Given the description of an element on the screen output the (x, y) to click on. 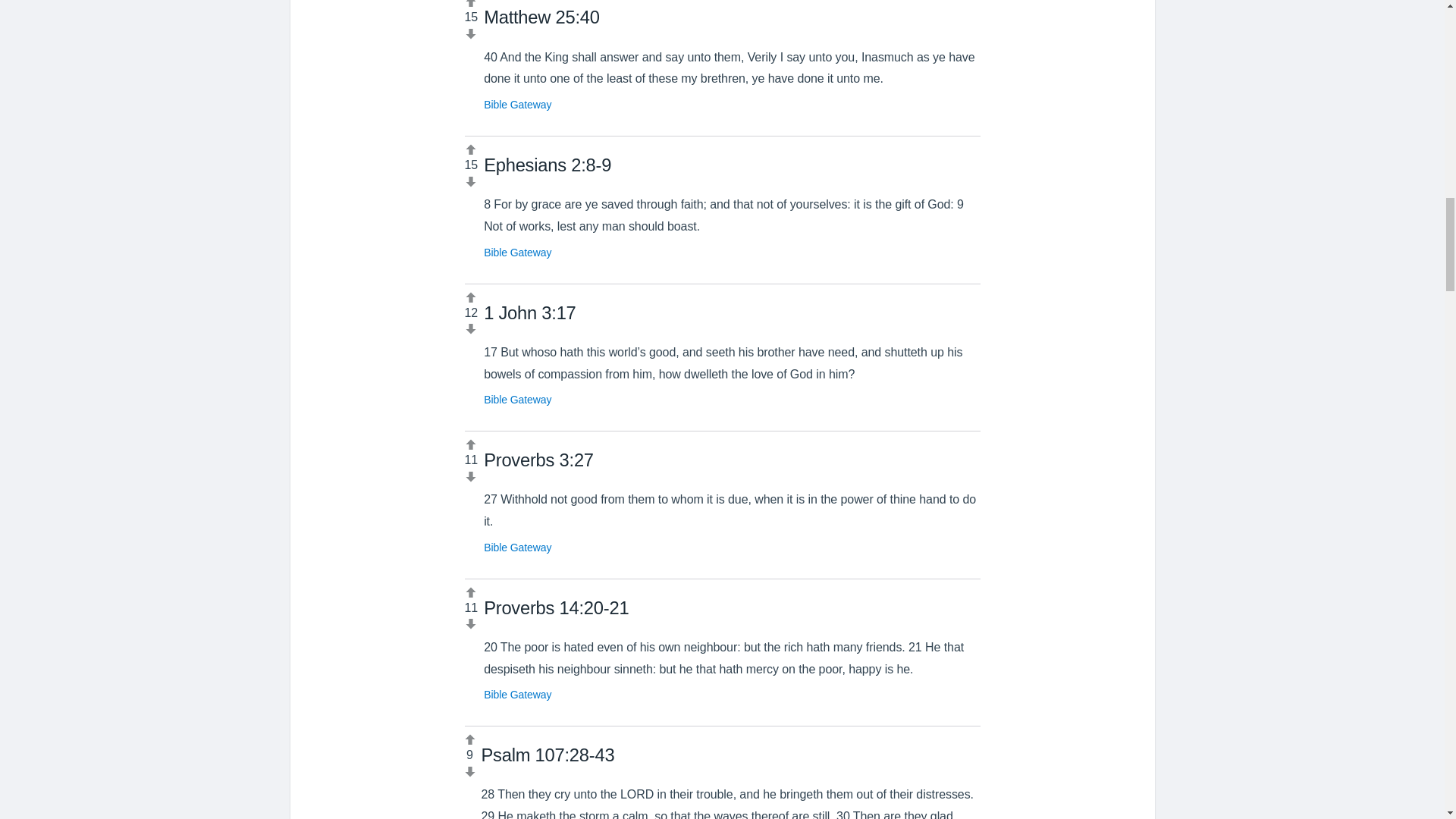
Bible Gateway (517, 694)
Bible Gateway (517, 252)
Bible Gateway (517, 547)
Bible Gateway (517, 104)
Bible Gateway (517, 399)
